Given the description of an element on the screen output the (x, y) to click on. 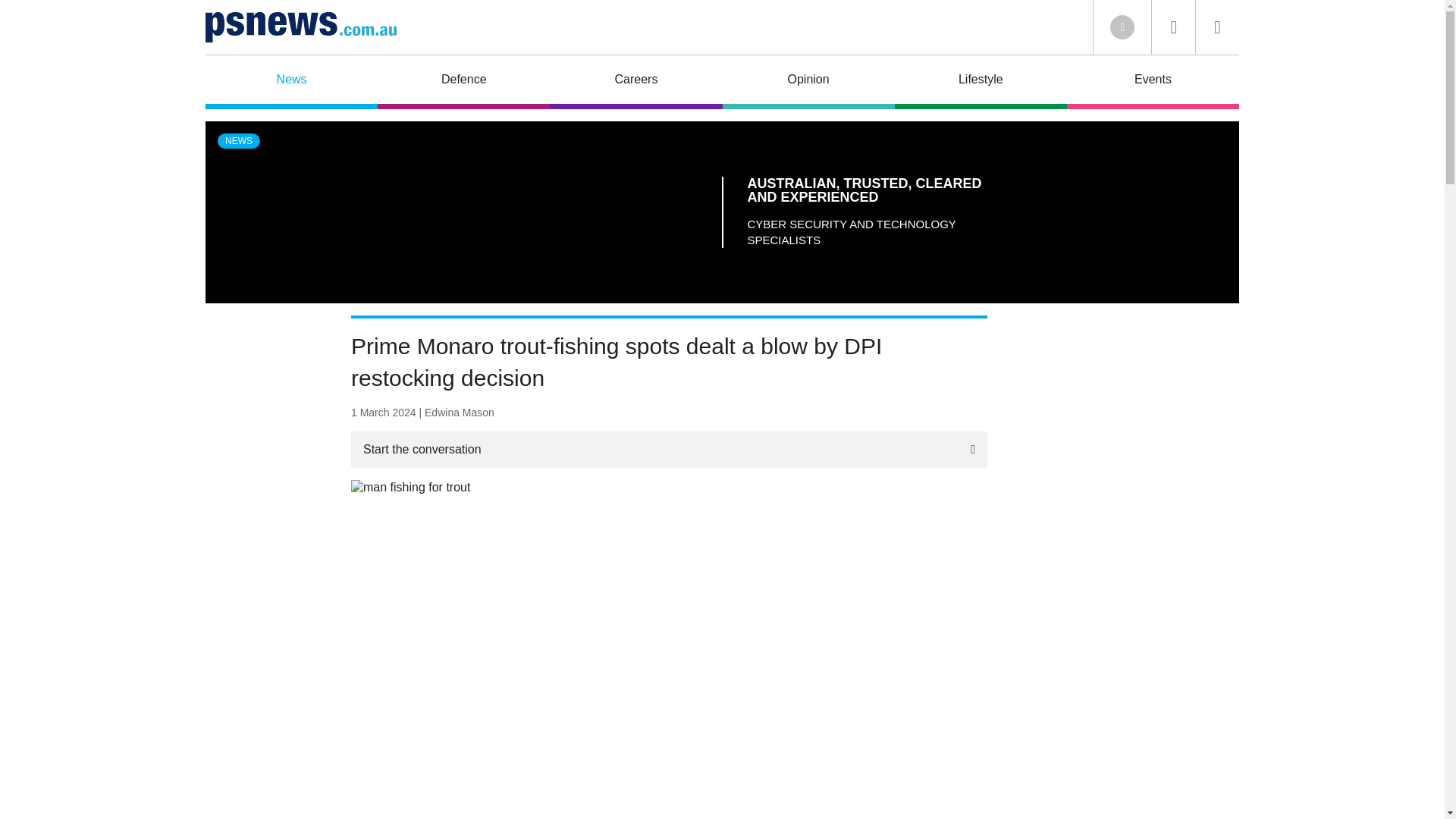
LinkedIn (1121, 27)
PS News Home (300, 26)
News (291, 81)
Defence (463, 81)
